Given the description of an element on the screen output the (x, y) to click on. 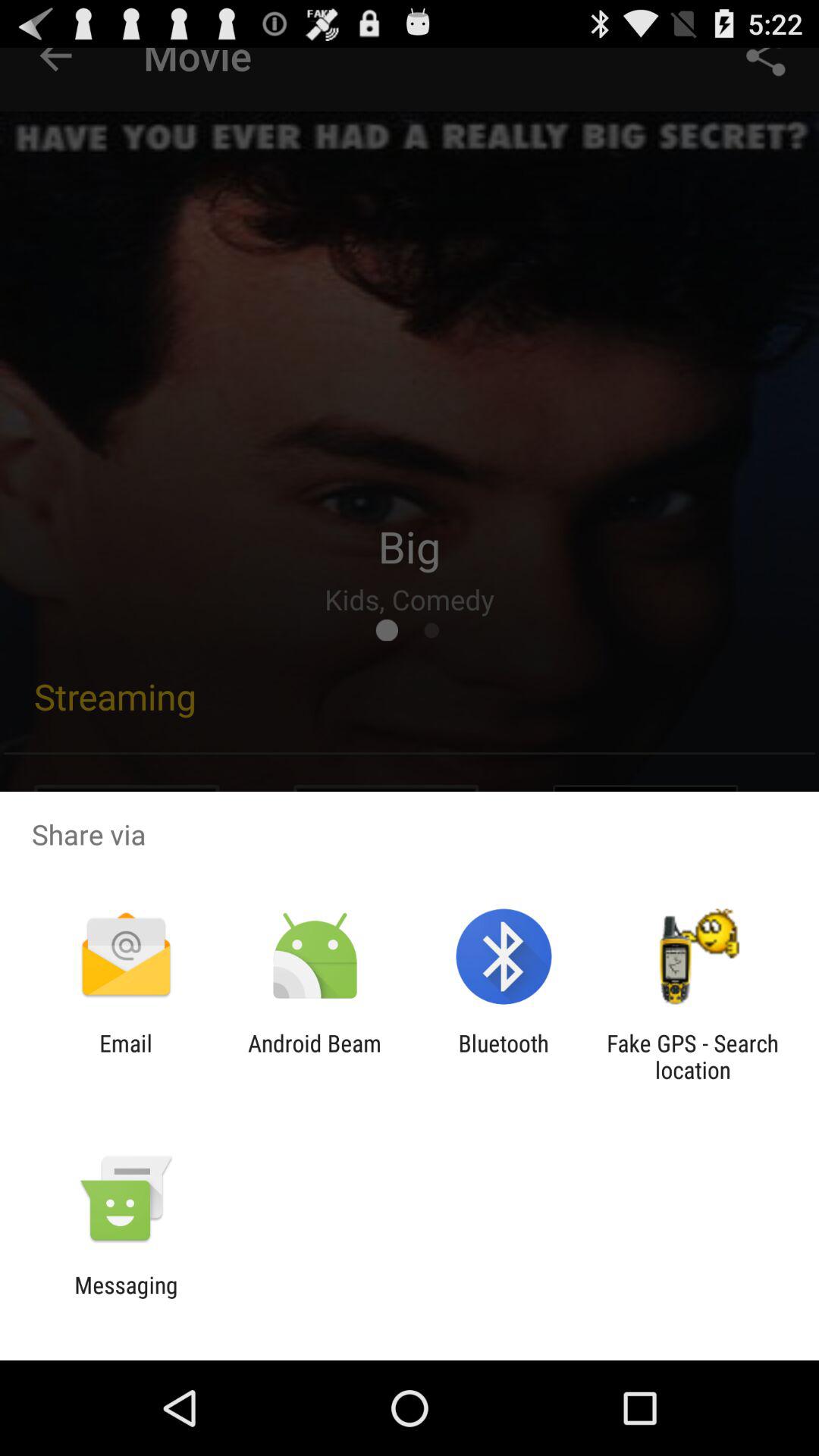
turn on the android beam icon (314, 1056)
